Given the description of an element on the screen output the (x, y) to click on. 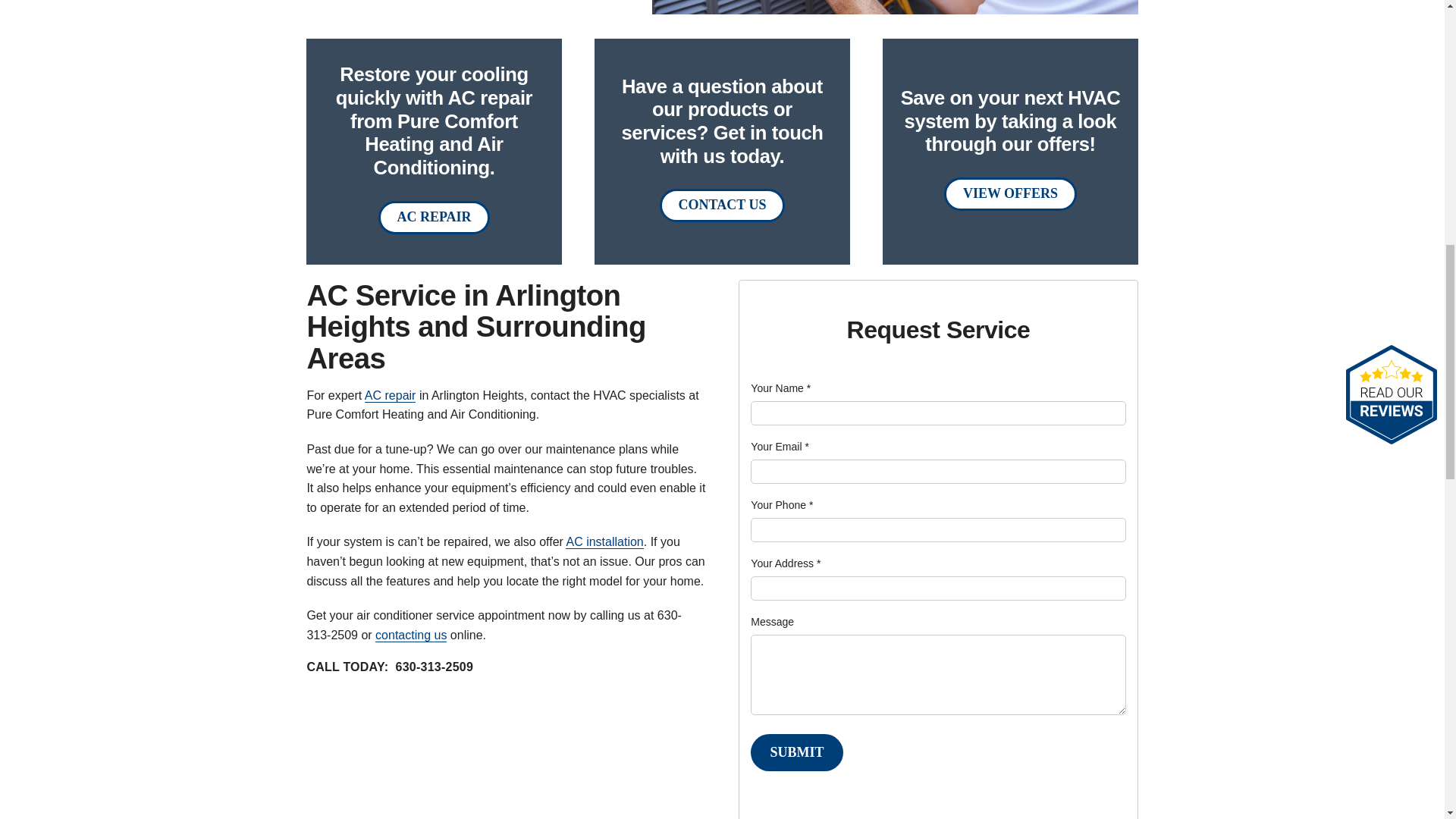
required (808, 387)
required (818, 563)
required (810, 504)
required (806, 446)
